Given the description of an element on the screen output the (x, y) to click on. 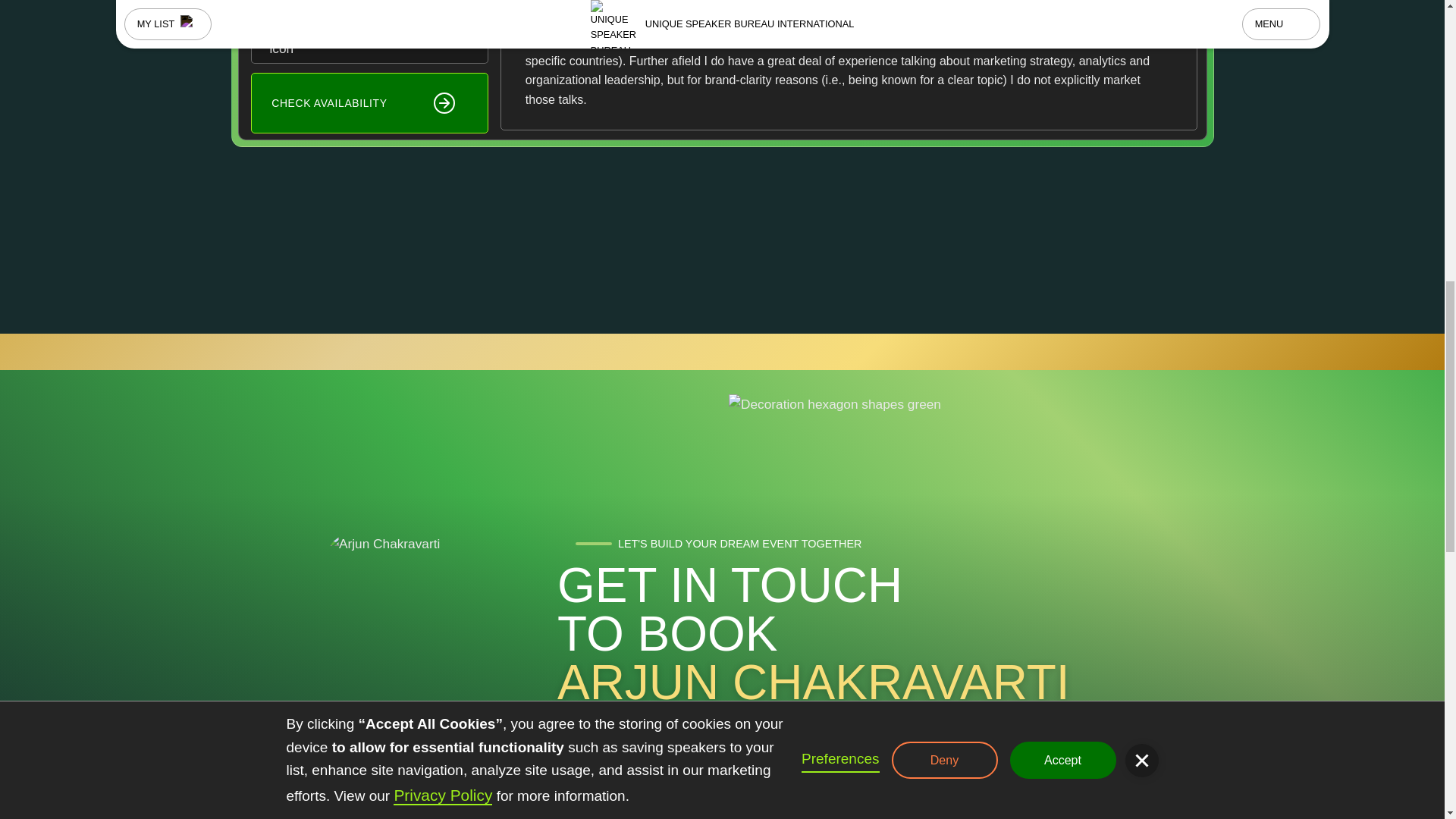
GET IN TOUCH (729, 585)
FOR YOUR NEXT EVENT (843, 730)
ARJUN CHAKRAVARTI (813, 682)
TO BOOK (667, 633)
